Given the description of an element on the screen output the (x, y) to click on. 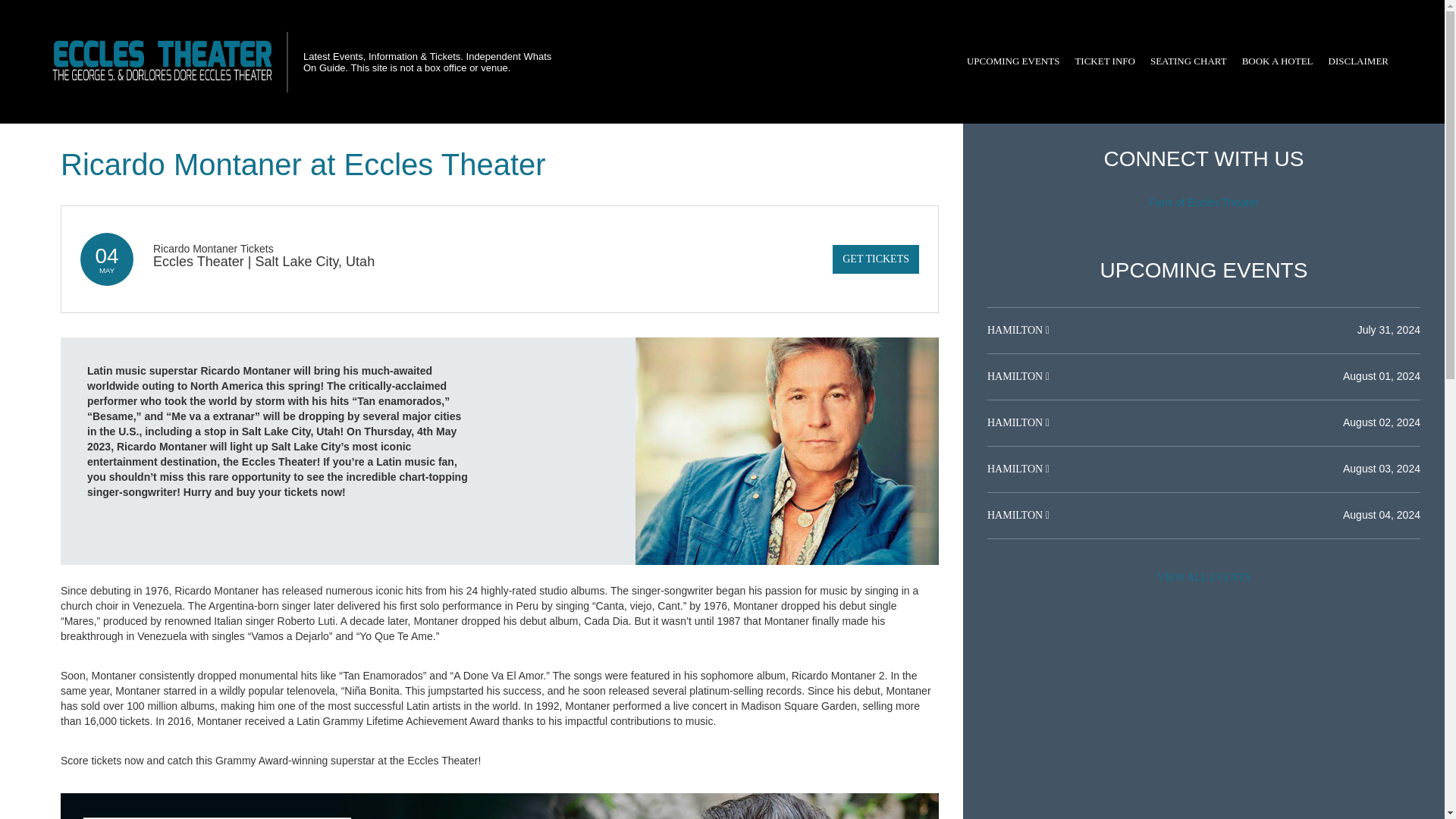
HAMILTON (1016, 422)
HAMILTON (1016, 329)
GET TICKETS (875, 258)
HAMILTON (1016, 469)
Fans of Eccles Theater (1204, 202)
Ricardo Montaner at Eccles Theater tickets (500, 806)
UPCOMING EVENTS (1013, 61)
SEATING CHART (1188, 61)
HAMILTON (1016, 376)
TICKET INFO (1104, 61)
VIEW ALL EVENTS (1203, 577)
Ricardo Montaner Tickets (212, 248)
BOOK A HOTEL (1277, 61)
DISCLAIMER (1358, 61)
Ricardo Montaner at Eccles Theater (786, 451)
